Given the description of an element on the screen output the (x, y) to click on. 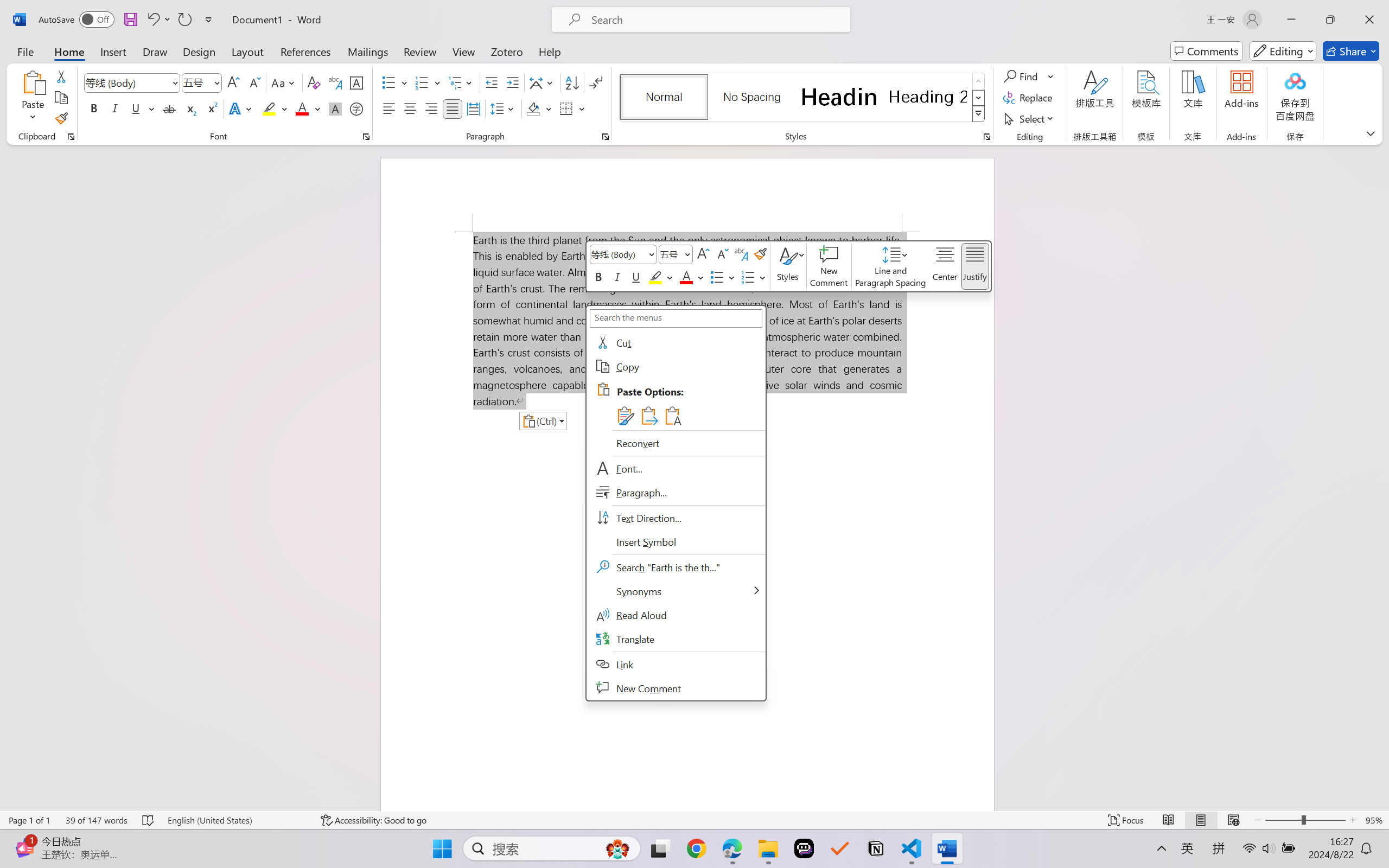
Repeat Paste Option (184, 19)
Keep Text Only (671, 415)
Class: NetUITextbox (670, 253)
Text Highlight Color (274, 108)
Sort... (571, 82)
Paragraph... (605, 136)
Font Color Red (302, 108)
Shading (539, 108)
